Given the description of an element on the screen output the (x, y) to click on. 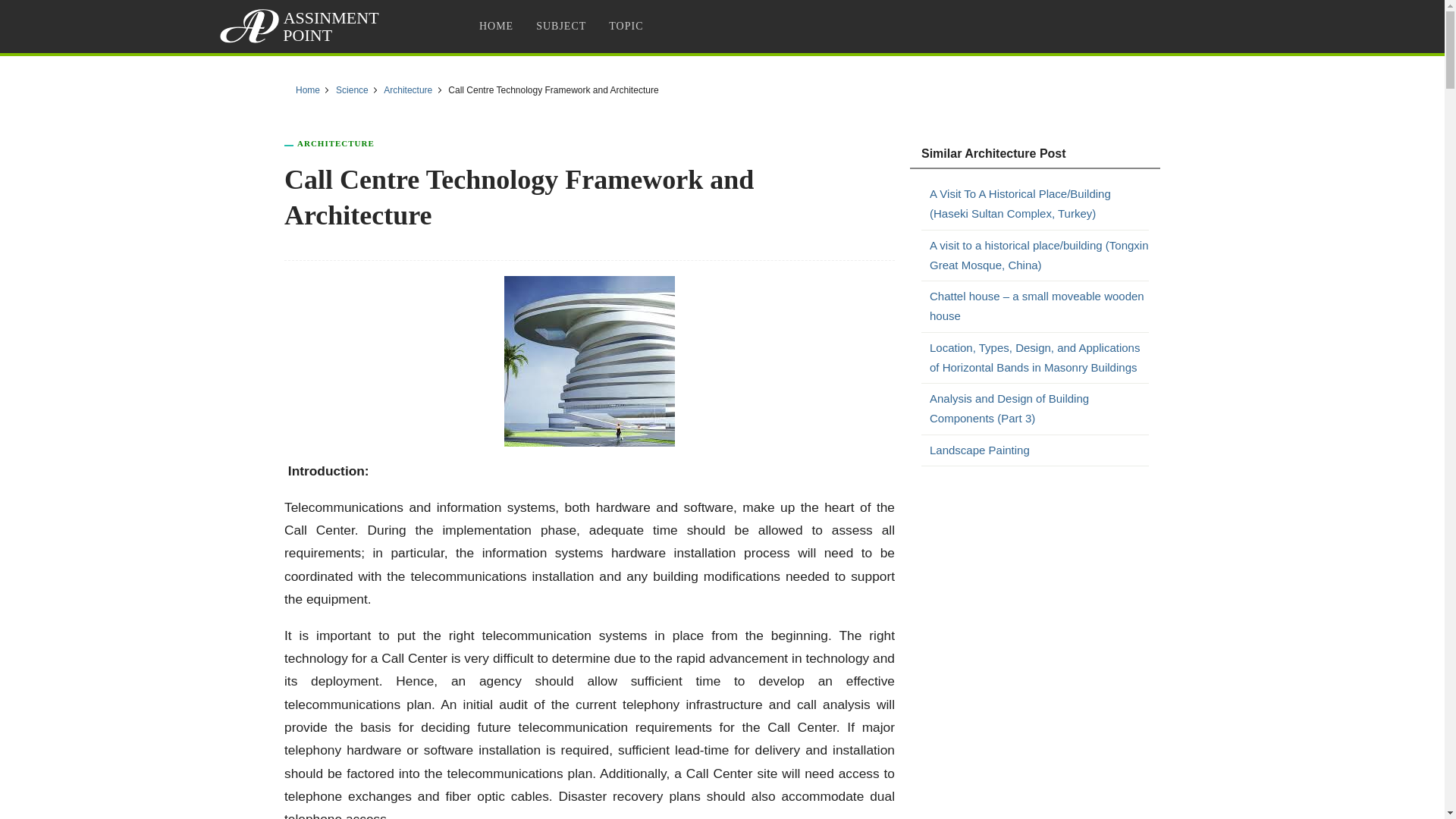
Architecture (408, 90)
Architecture (335, 143)
HOME (495, 26)
Landscape Painting (1039, 449)
Subject (560, 26)
Home (307, 90)
Science (352, 90)
TOPIC (624, 26)
ARCHITECTURE (335, 143)
Topic (624, 26)
Assignment Point (301, 26)
SUBJECT (560, 26)
Landscape Painting (1039, 449)
